Given the description of an element on the screen output the (x, y) to click on. 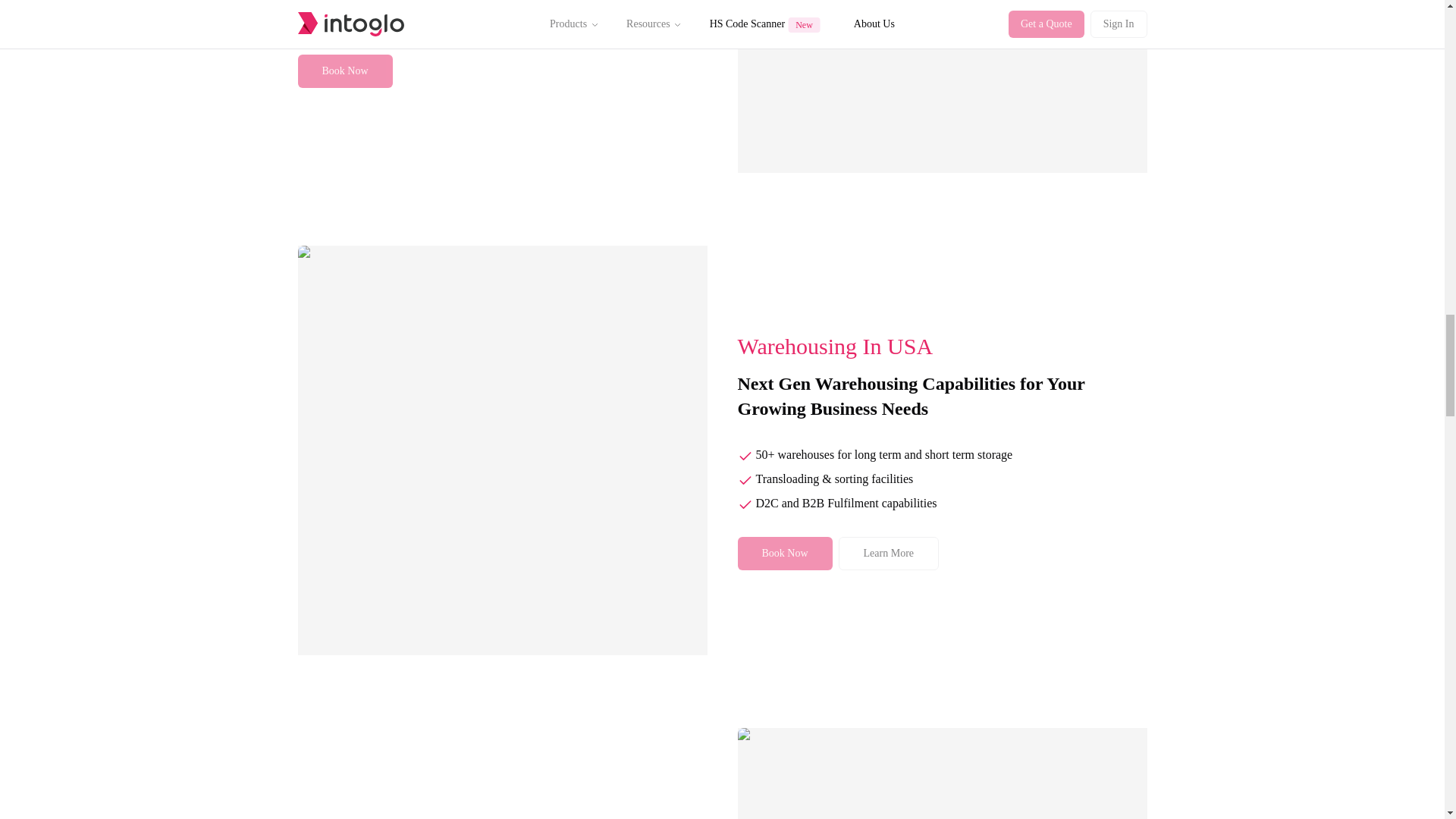
Book Now (783, 553)
Book Now (344, 70)
Learn More (888, 553)
